Given the description of an element on the screen output the (x, y) to click on. 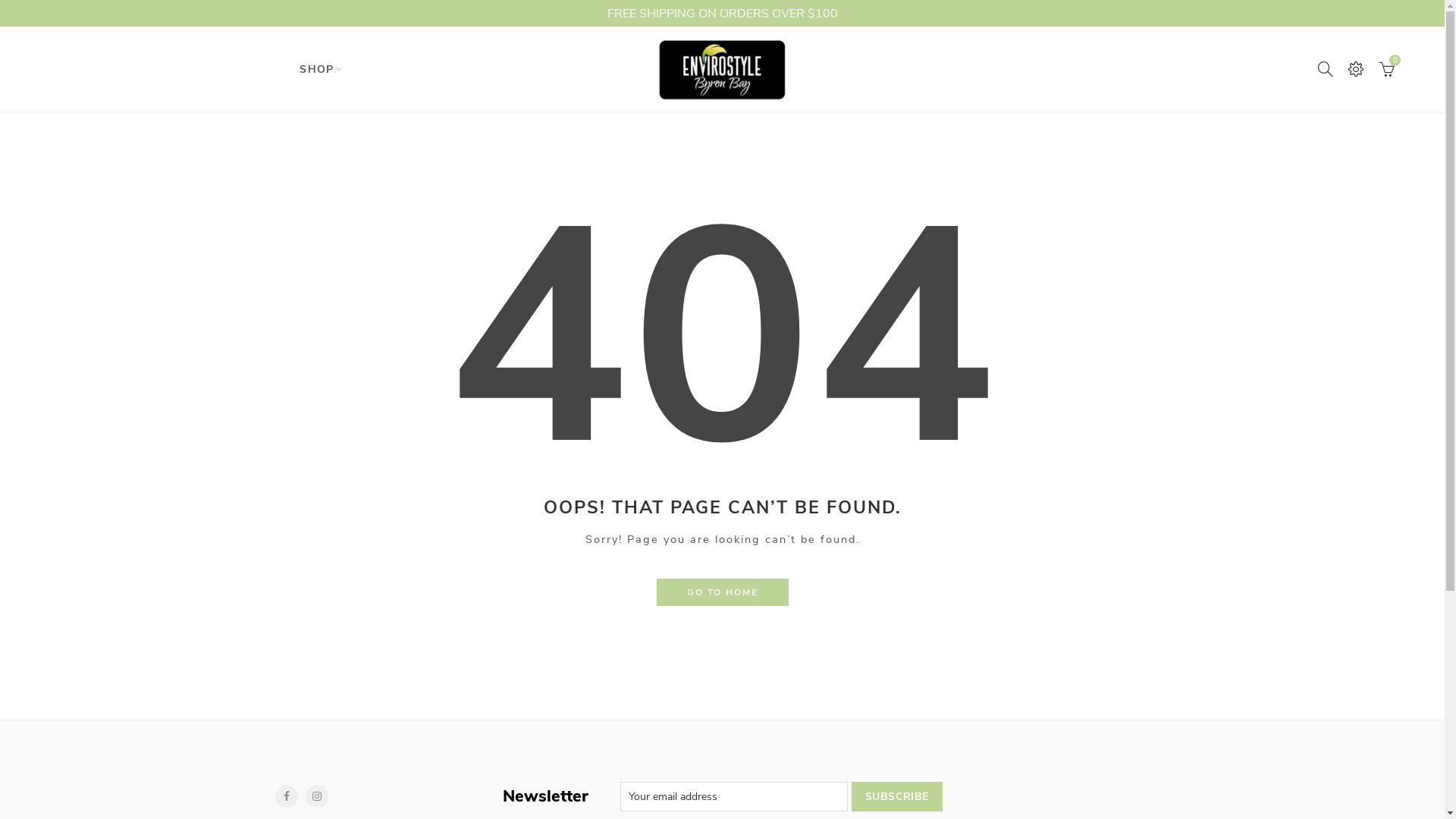
Facebook Element type: text (285, 795)
0 Element type: text (1387, 68)
SHOP Element type: text (316, 69)
SUBSCRIBE Element type: text (896, 796)
FREE SHIPPING ON ORDERS OVER $100 Element type: text (722, 13)
GO TO HOME Element type: text (722, 591)
Instagram Element type: text (315, 795)
